Given the description of an element on the screen output the (x, y) to click on. 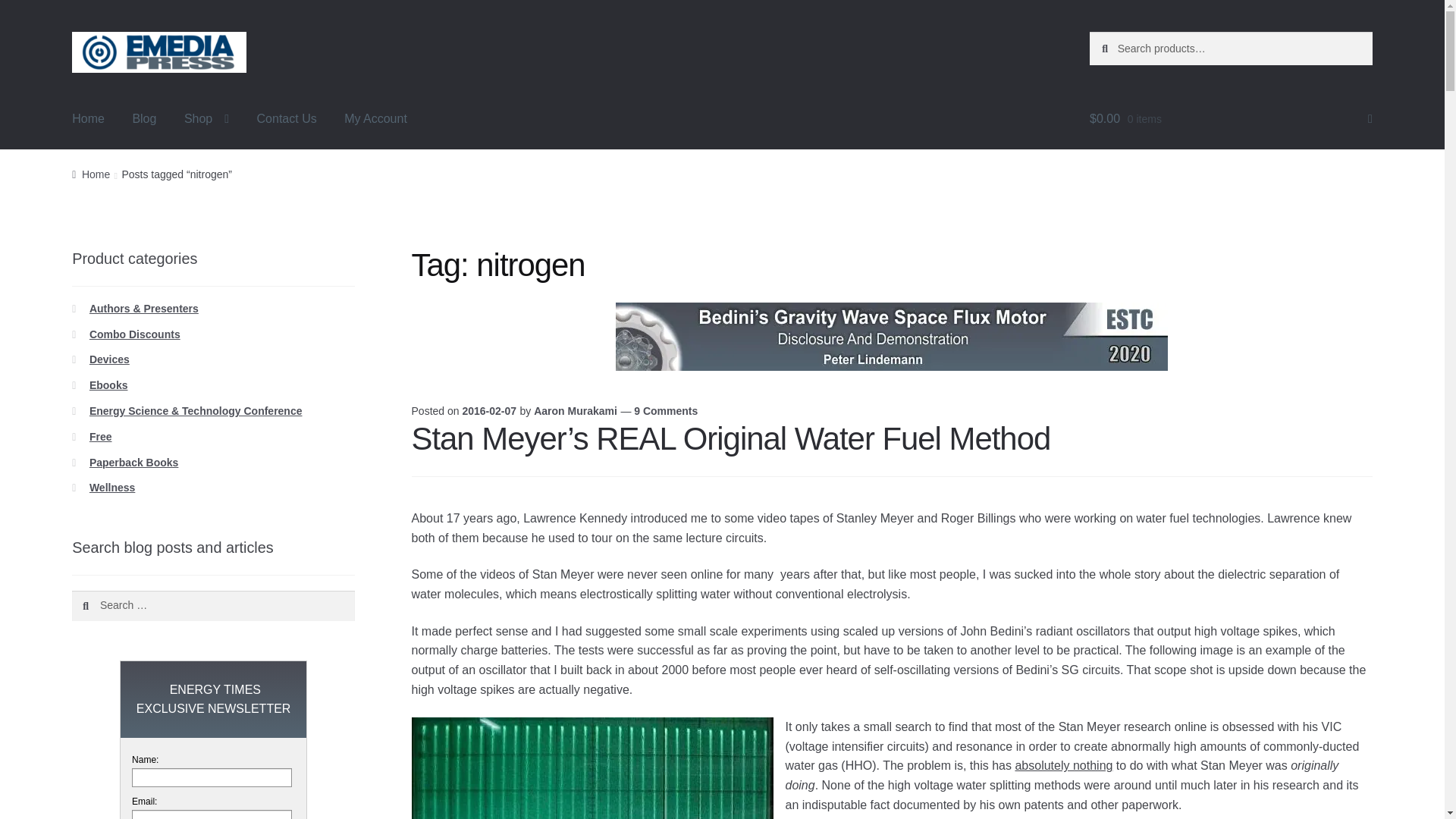
Contact Us (286, 118)
View your shopping cart (1231, 118)
My Account (375, 118)
Home (87, 118)
Shop (206, 118)
